Given the description of an element on the screen output the (x, y) to click on. 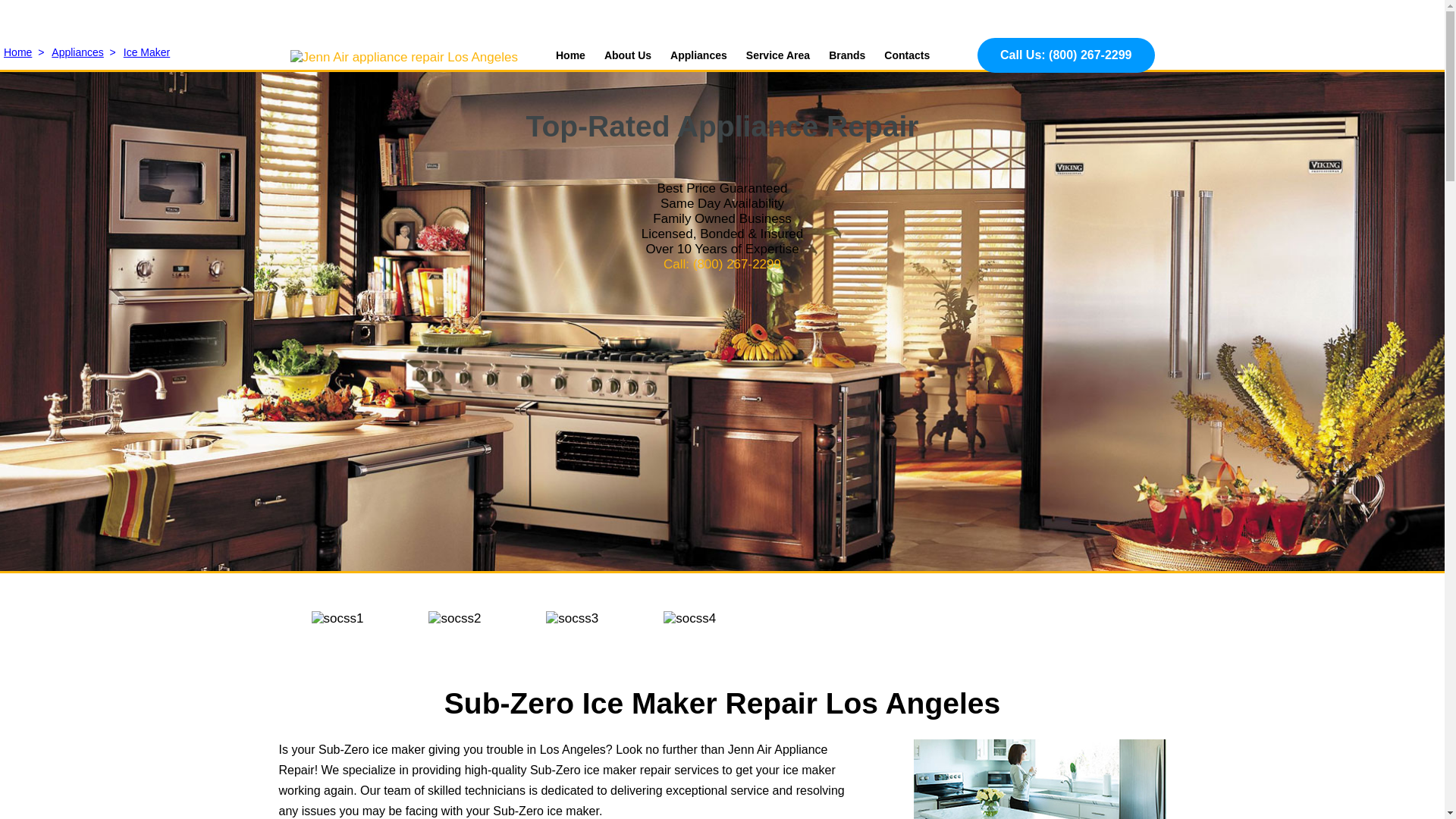
Home (570, 55)
About Us (627, 55)
Appliances (697, 55)
Service Area (777, 55)
Brands (846, 55)
